Given the description of an element on the screen output the (x, y) to click on. 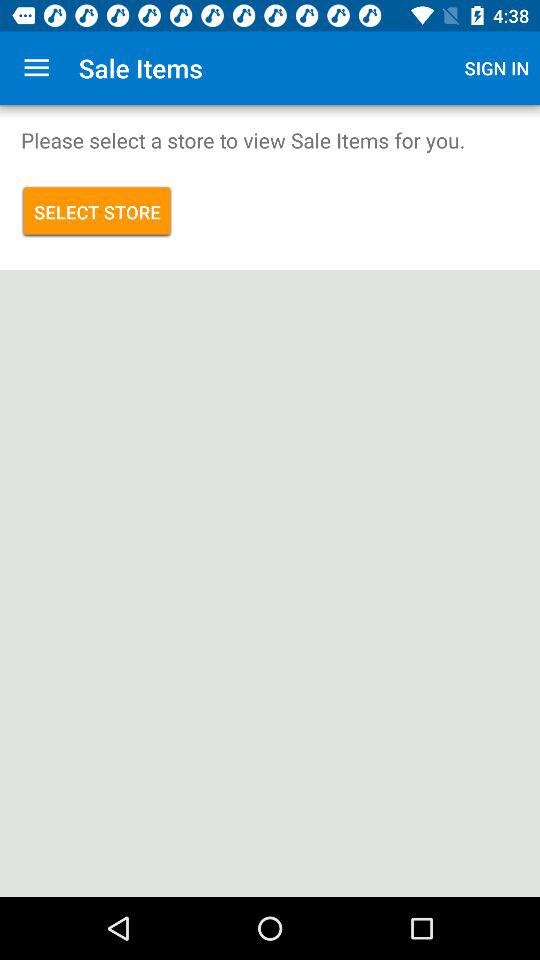
click the app to the right of sale items icon (497, 67)
